Given the description of an element on the screen output the (x, y) to click on. 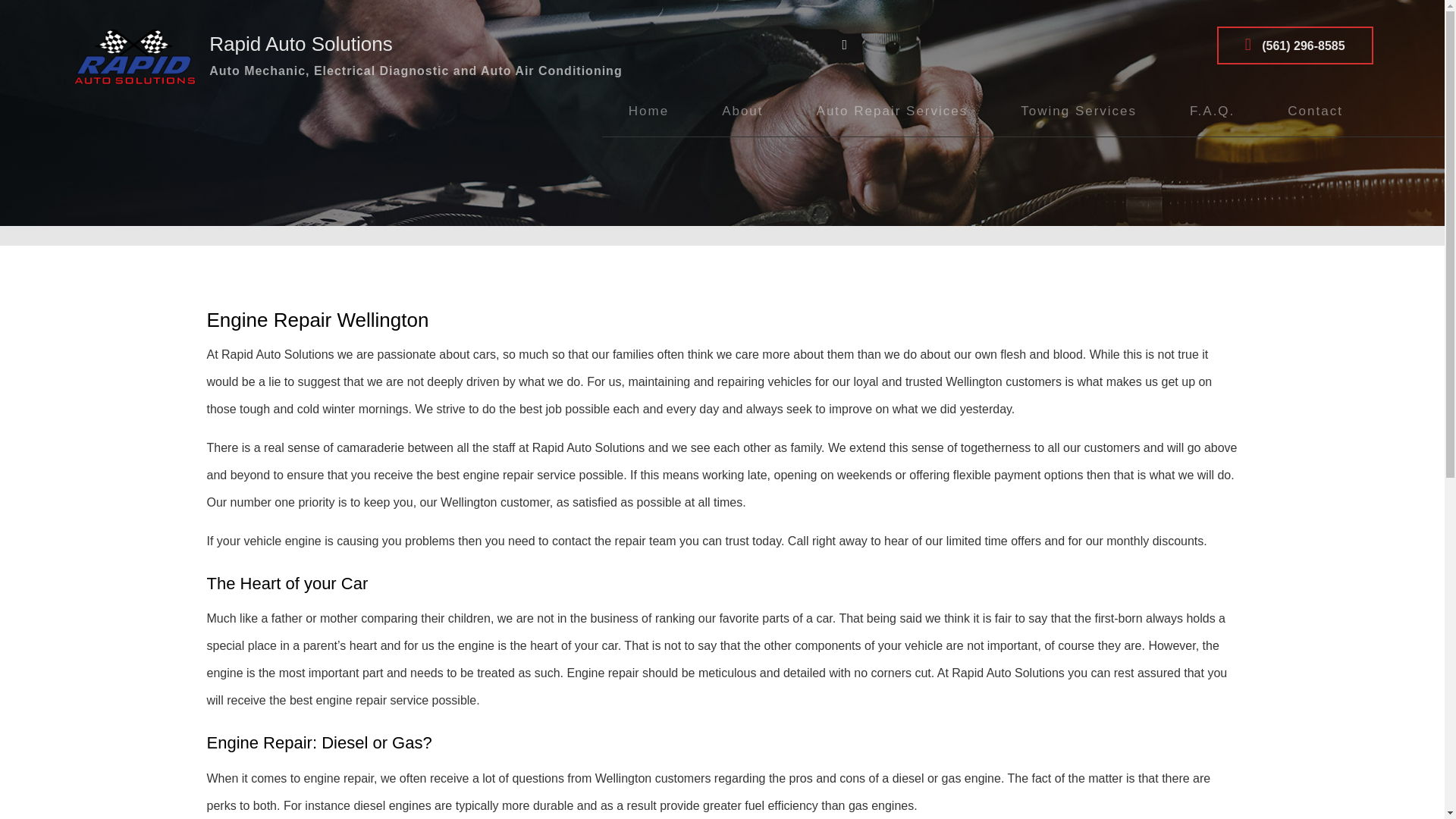
Brake Services (892, 245)
Tire Rotation (892, 368)
Auto Repair Services (892, 111)
Auto Maintenance and Inspection (892, 214)
Tire Services (892, 400)
Automotive Diagnostics (892, 183)
Oil Change (892, 337)
Exhaust Repair (892, 306)
Service Areas (742, 151)
Engine Repair (892, 276)
